Given the description of an element on the screen output the (x, y) to click on. 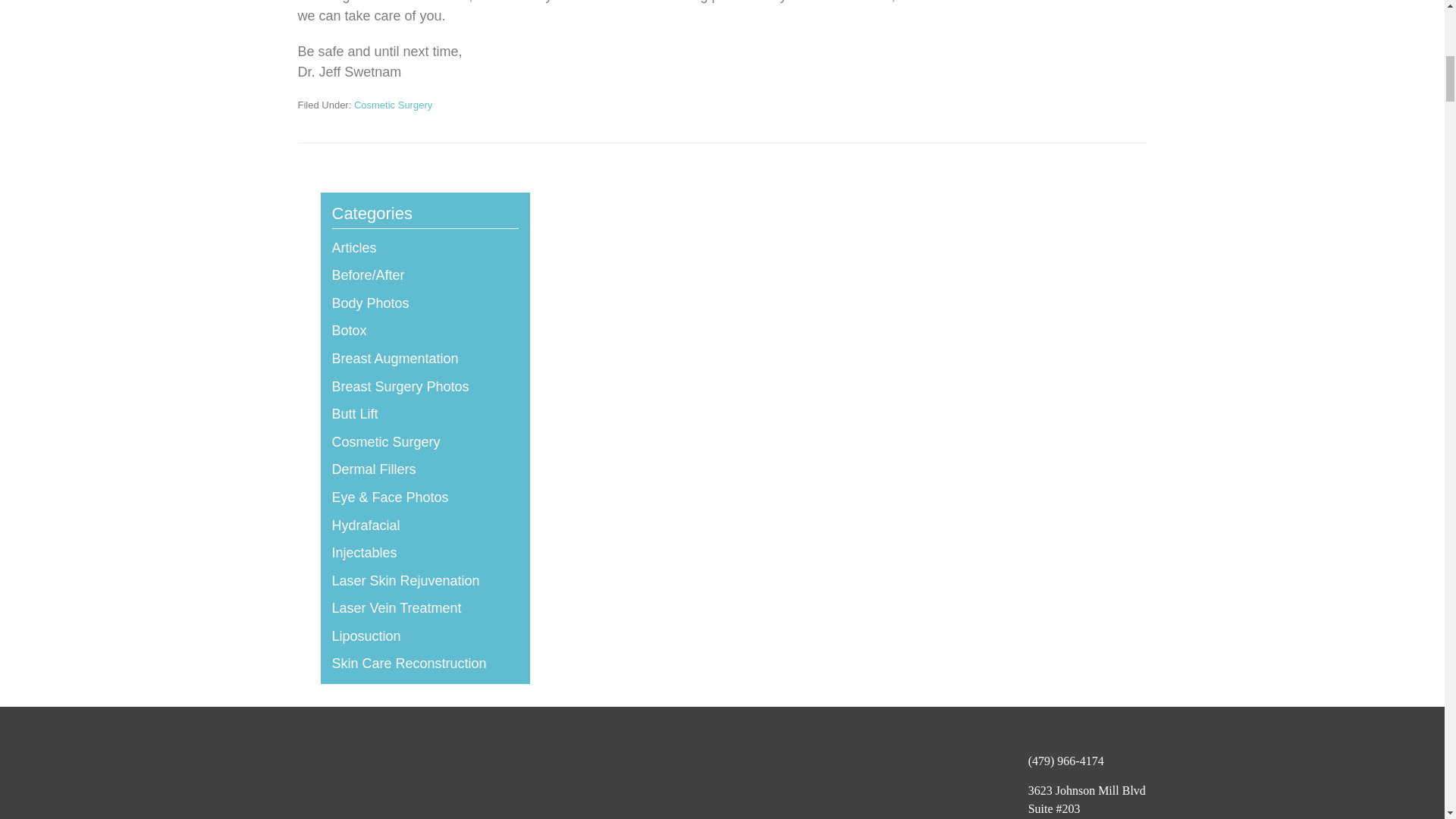
Google Swetnam Map (731, 785)
Website Subscriber Form (351, 785)
